Given the description of an element on the screen output the (x, y) to click on. 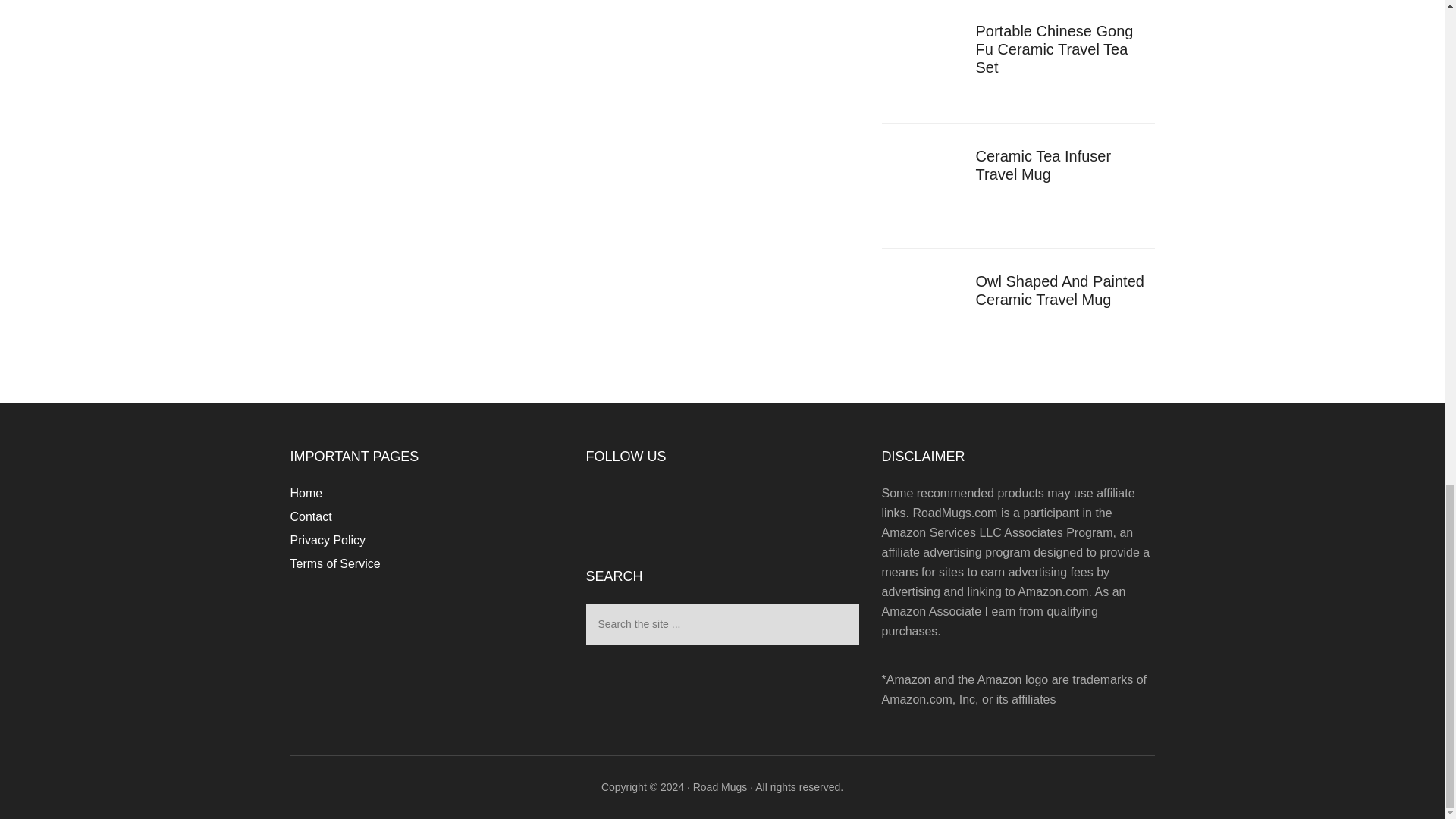
Owl Shaped And Painted Ceramic Travel Mug (1058, 289)
Ceramic Tea Infuser Travel Mug (1042, 165)
Portable Chinese Gong Fu Ceramic Travel Tea Set (1053, 49)
